Given the description of an element on the screen output the (x, y) to click on. 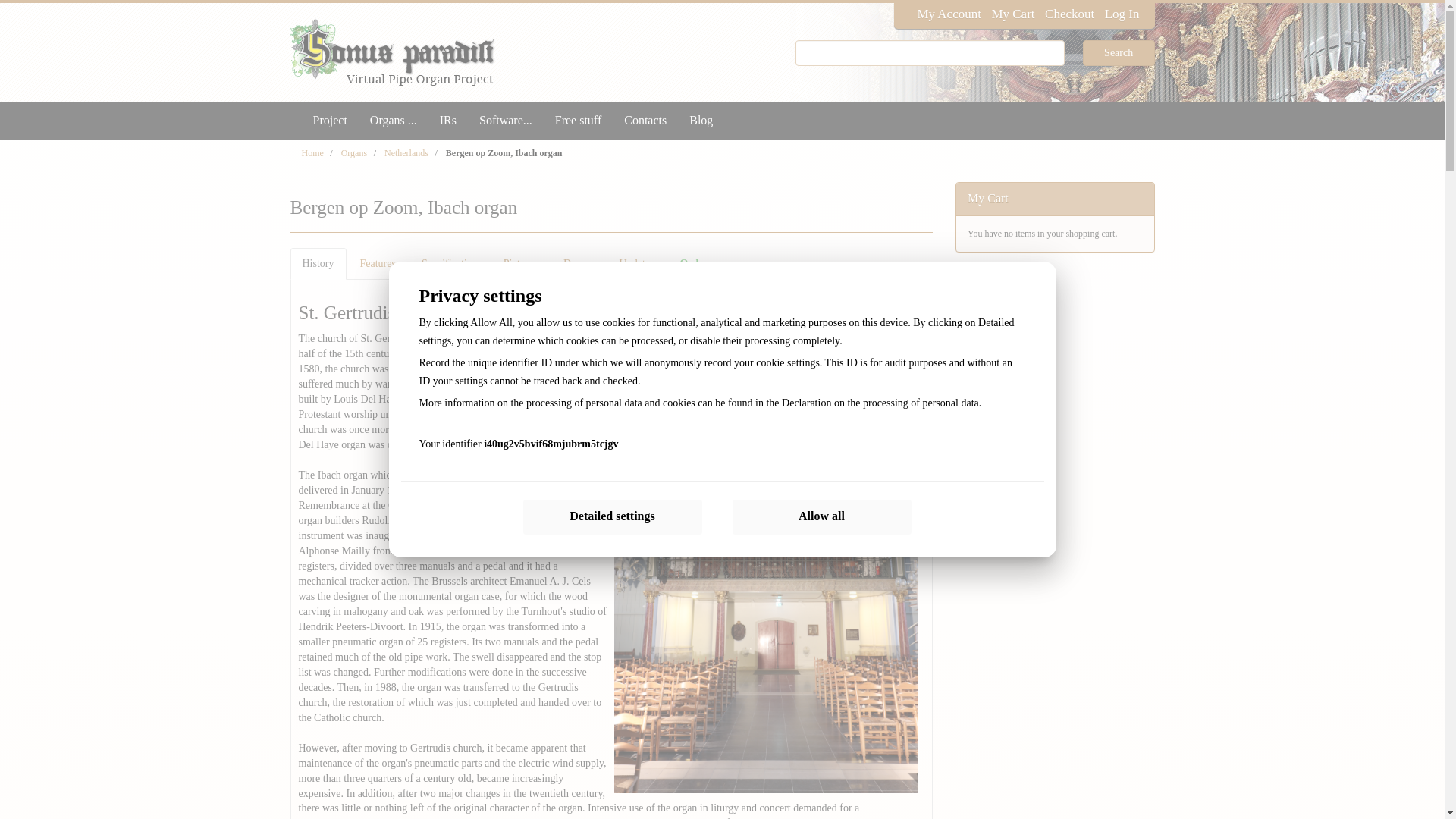
Sonus Paradisi (411, 52)
Search (1118, 53)
Checkout (1069, 13)
Organs ... (393, 120)
My Cart (1012, 13)
Log In (1122, 13)
My Account (949, 13)
My Cart (1012, 13)
Checkout (1069, 13)
Project (329, 120)
Search (1118, 53)
Go to Home Page (312, 153)
Log In (1122, 13)
Sonus Paradisi (411, 52)
My Account (949, 13)
